Given the description of an element on the screen output the (x, y) to click on. 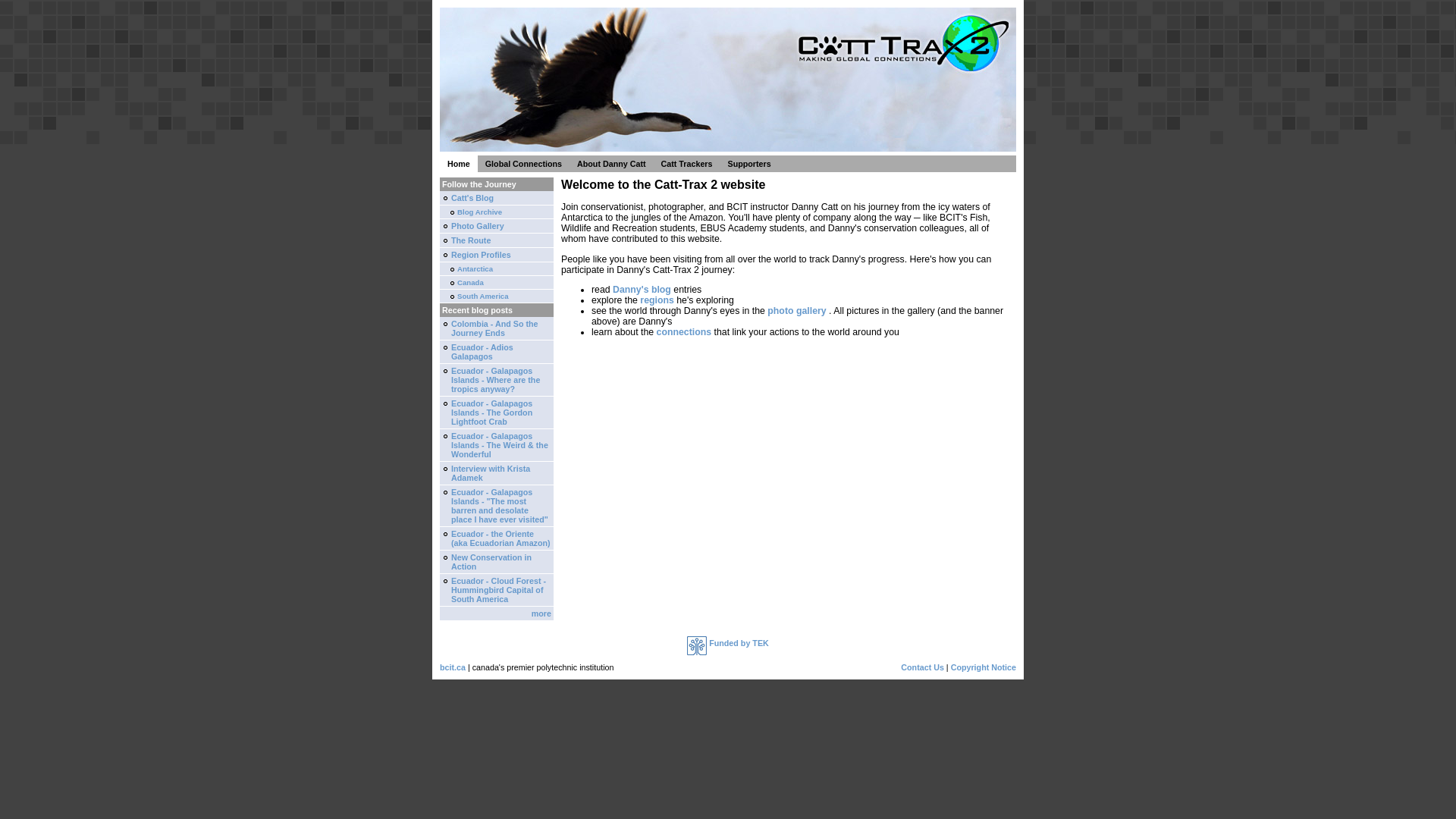
Home Element type: text (458, 163)
Antarctica Element type: text (496, 269)
Global Connections Element type: text (523, 163)
Copyright Notice Element type: text (983, 666)
Ecuador - Galapagos Islands - Where are the tropics anyway? Element type: text (496, 380)
more Element type: text (496, 613)
Contact Us Element type: text (922, 666)
Blog Archive Element type: text (496, 212)
Ecuador - the Oriente (aka Ecuadorian Amazon) Element type: text (496, 538)
bcit.ca Element type: text (452, 666)
Supporters Element type: text (748, 163)
Danny's blog Element type: text (641, 289)
Canada Element type: text (496, 282)
The Route Element type: text (496, 240)
Region Profiles Element type: text (496, 254)
Ecuador - Galapagos Islands - The Gordon Lightfoot Crab Element type: text (496, 412)
Photo Gallery Element type: text (496, 226)
Ecuador - Galapagos Islands - The Weird & the Wonderful Element type: text (496, 445)
photo gallery Element type: text (796, 310)
New Conservation in Action Element type: text (496, 562)
Ecuador - Adios Galapagos Element type: text (496, 352)
Colombia - And So the Journey Ends Element type: text (496, 328)
Catt Trackers Element type: text (686, 163)
Funded by TEK Element type: text (727, 642)
regions Element type: text (658, 299)
Catt's Blog Element type: text (496, 198)
About Danny Catt Element type: text (611, 163)
South America Element type: text (496, 296)
connections Element type: text (685, 331)
Interview with Krista Adamek Element type: text (496, 473)
